Given the description of an element on the screen output the (x, y) to click on. 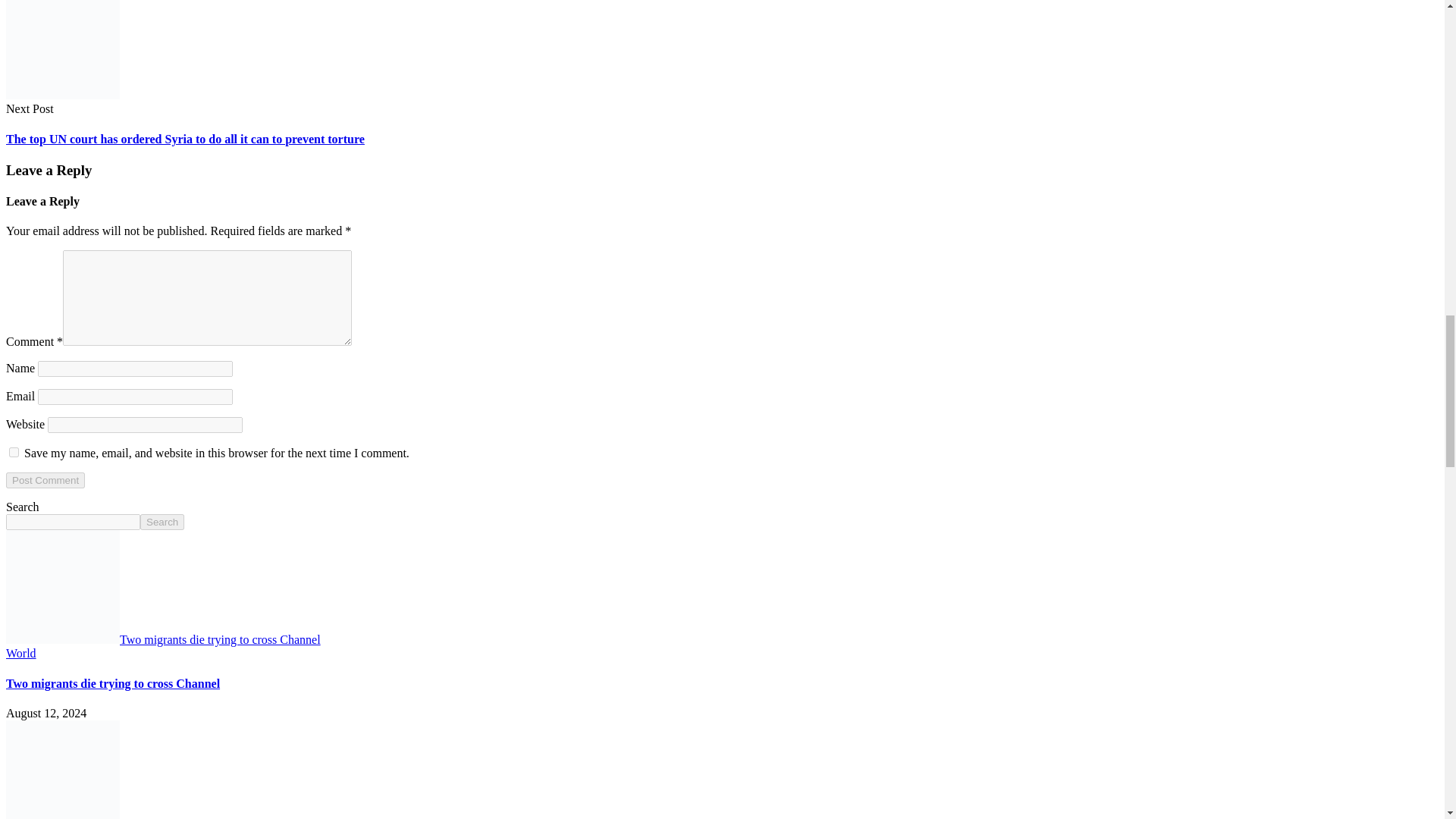
yes (13, 452)
Post Comment (44, 480)
